Given the description of an element on the screen output the (x, y) to click on. 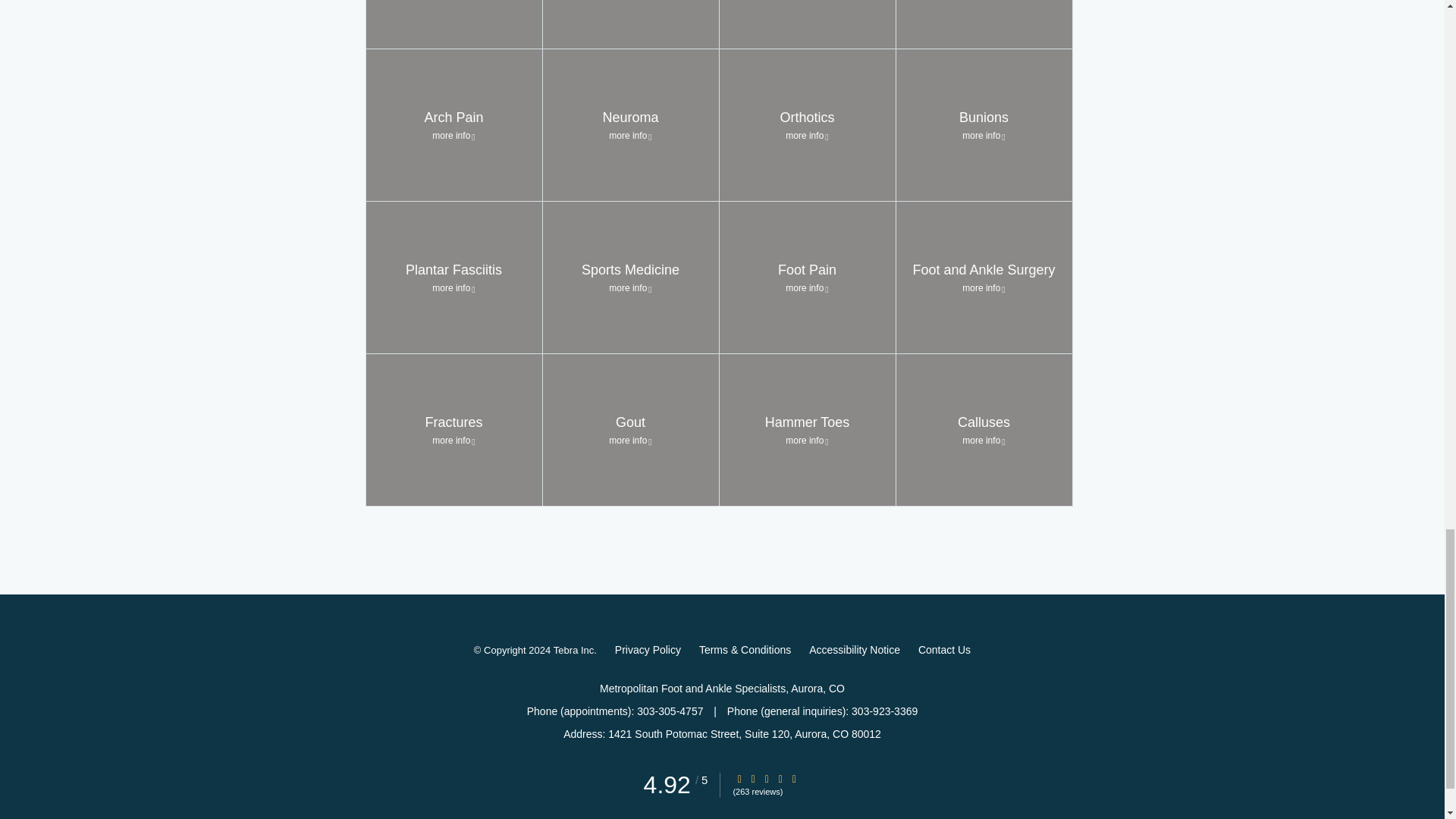
Star Rating (738, 778)
Star Rating (753, 778)
Star Rating (794, 778)
Star Rating (780, 778)
Star Rating (766, 778)
